Given the description of an element on the screen output the (x, y) to click on. 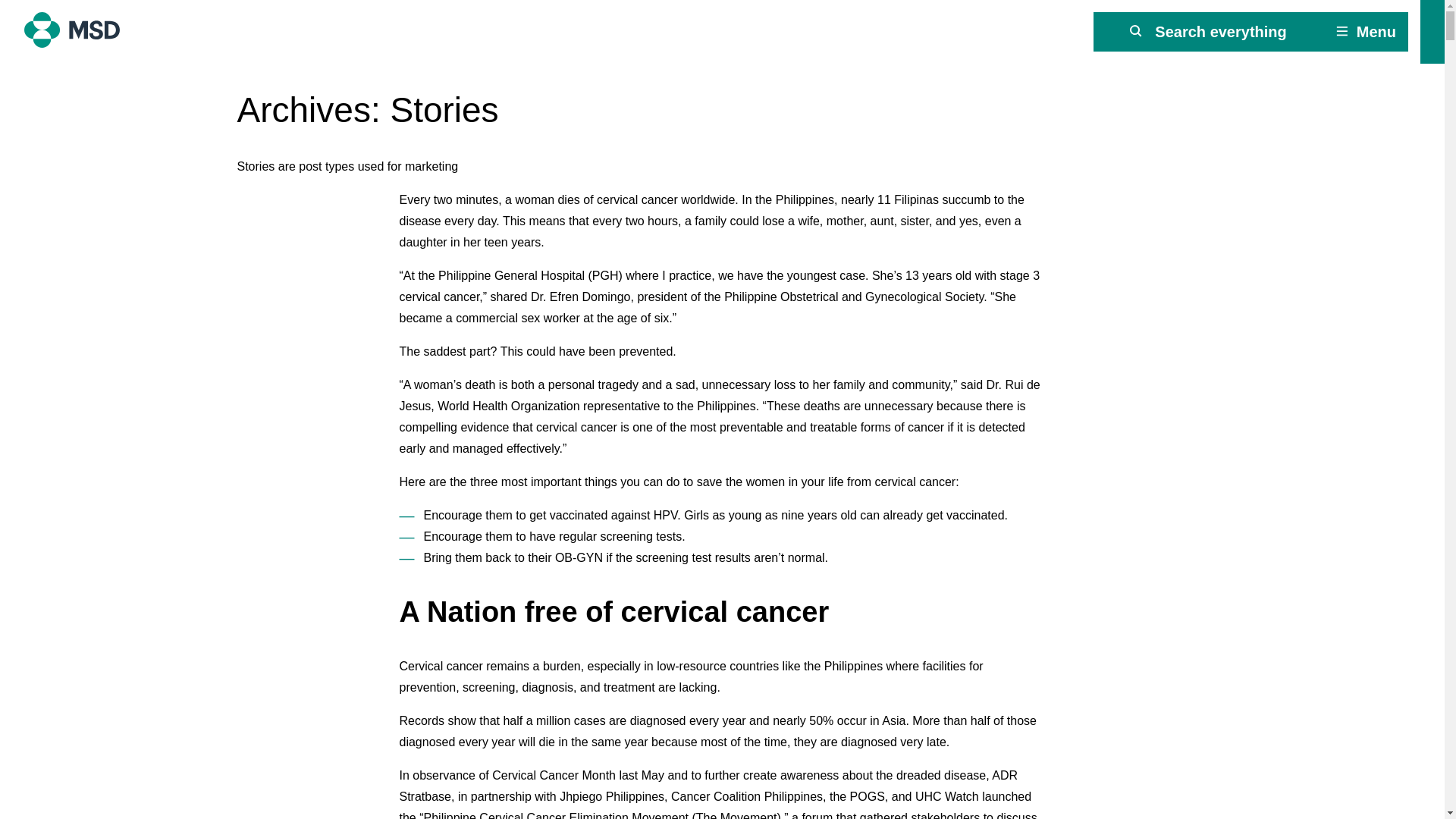
Menu (1365, 31)
Search everything (1208, 31)
MSD Philippines (83, 29)
